Given the description of an element on the screen output the (x, y) to click on. 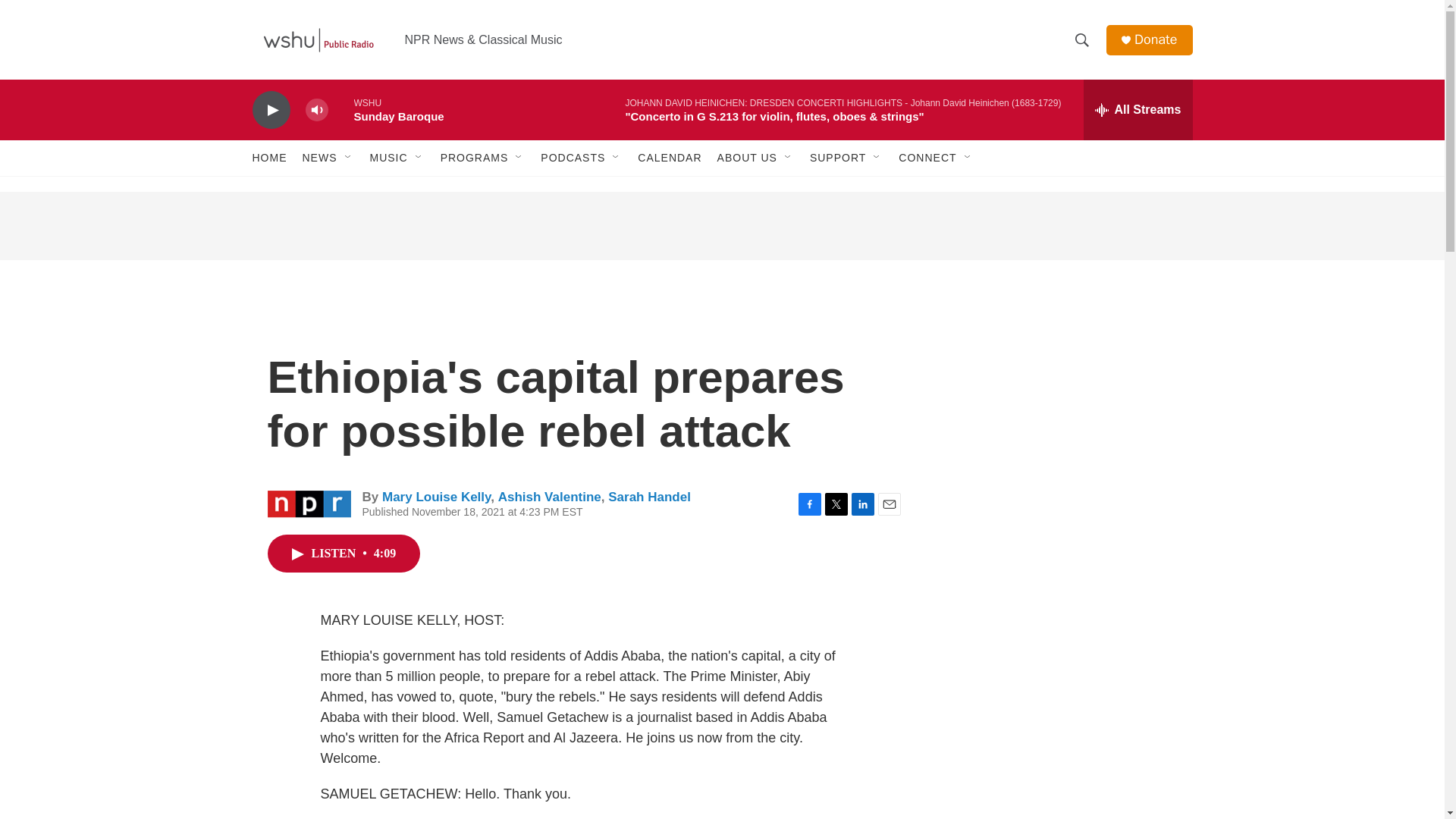
3rd party ad content (1062, 400)
3rd party ad content (1062, 782)
3rd party ad content (1062, 619)
3rd party ad content (721, 225)
